Given the description of an element on the screen output the (x, y) to click on. 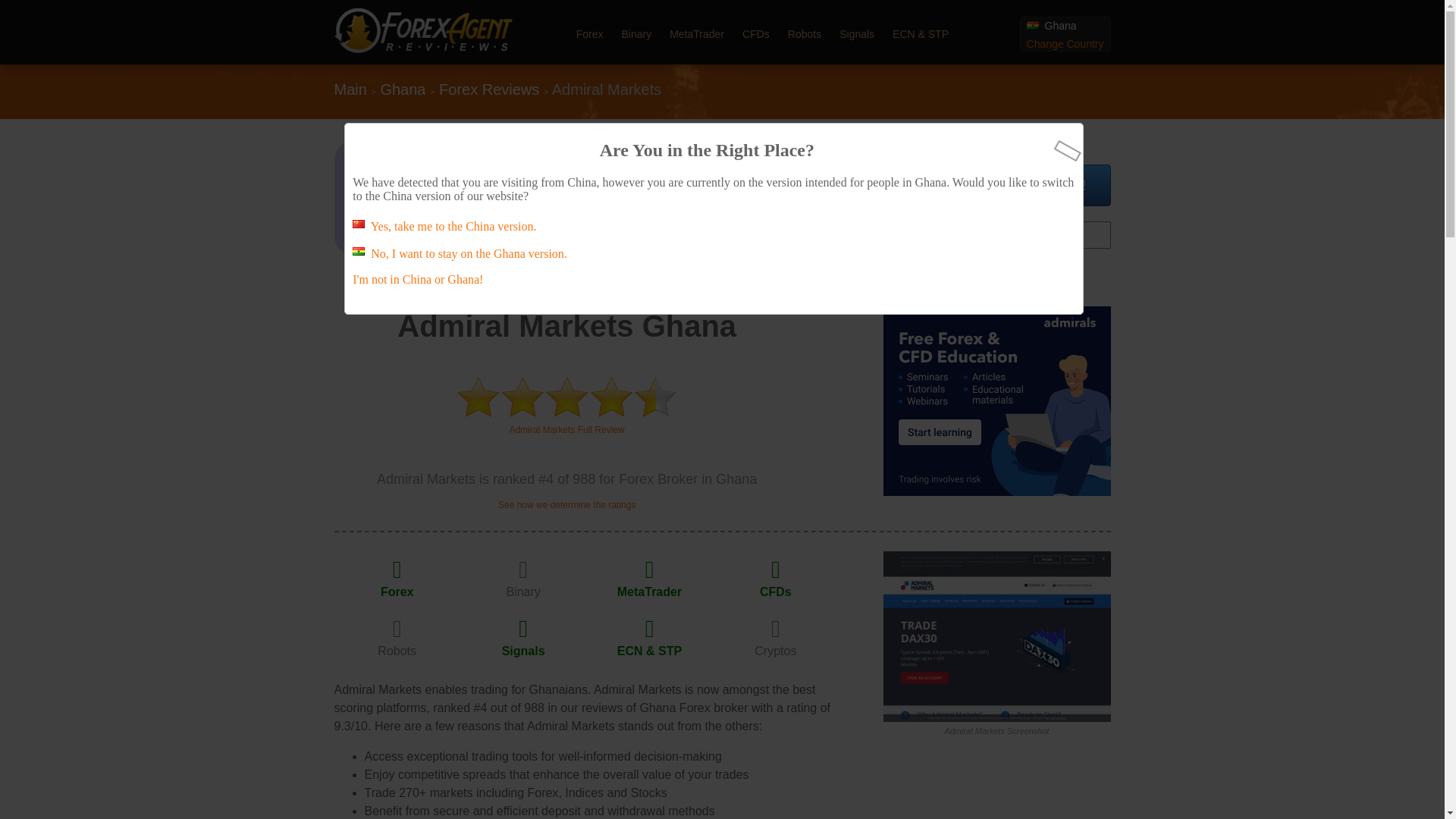
CFDs Ghana (776, 591)
Binary Ghana (522, 591)
Forex Ghana (590, 33)
Signals (523, 650)
online forex Ghana (422, 48)
Robots (396, 650)
Main (349, 89)
Binary Ghana (636, 33)
Robots Ghana (396, 650)
MetaTrader (696, 33)
